Given the description of an element on the screen output the (x, y) to click on. 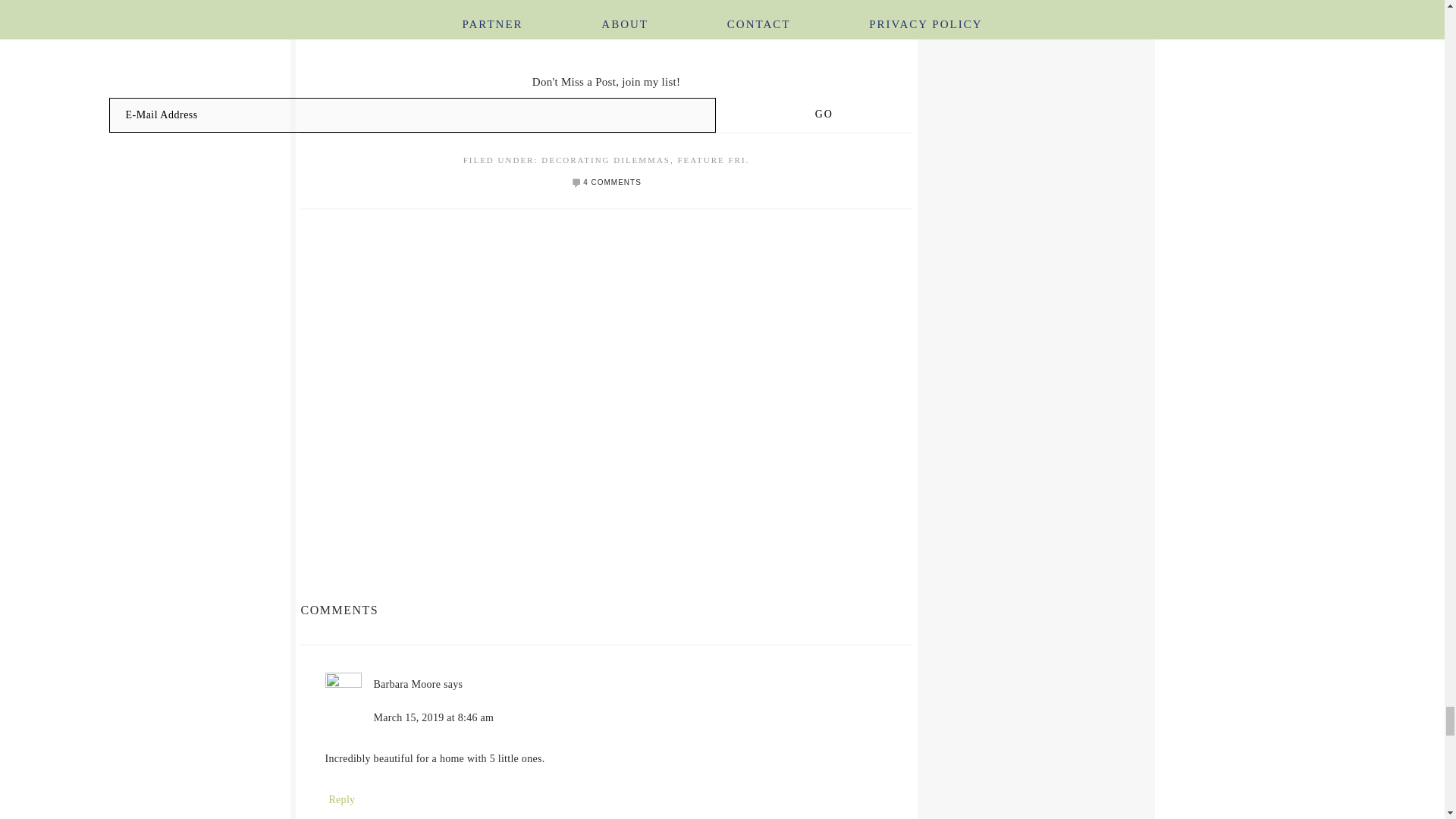
Pinterest (650, 22)
Email (632, 22)
Go (823, 114)
Twitter (614, 22)
Facebook (595, 22)
